Given the description of an element on the screen output the (x, y) to click on. 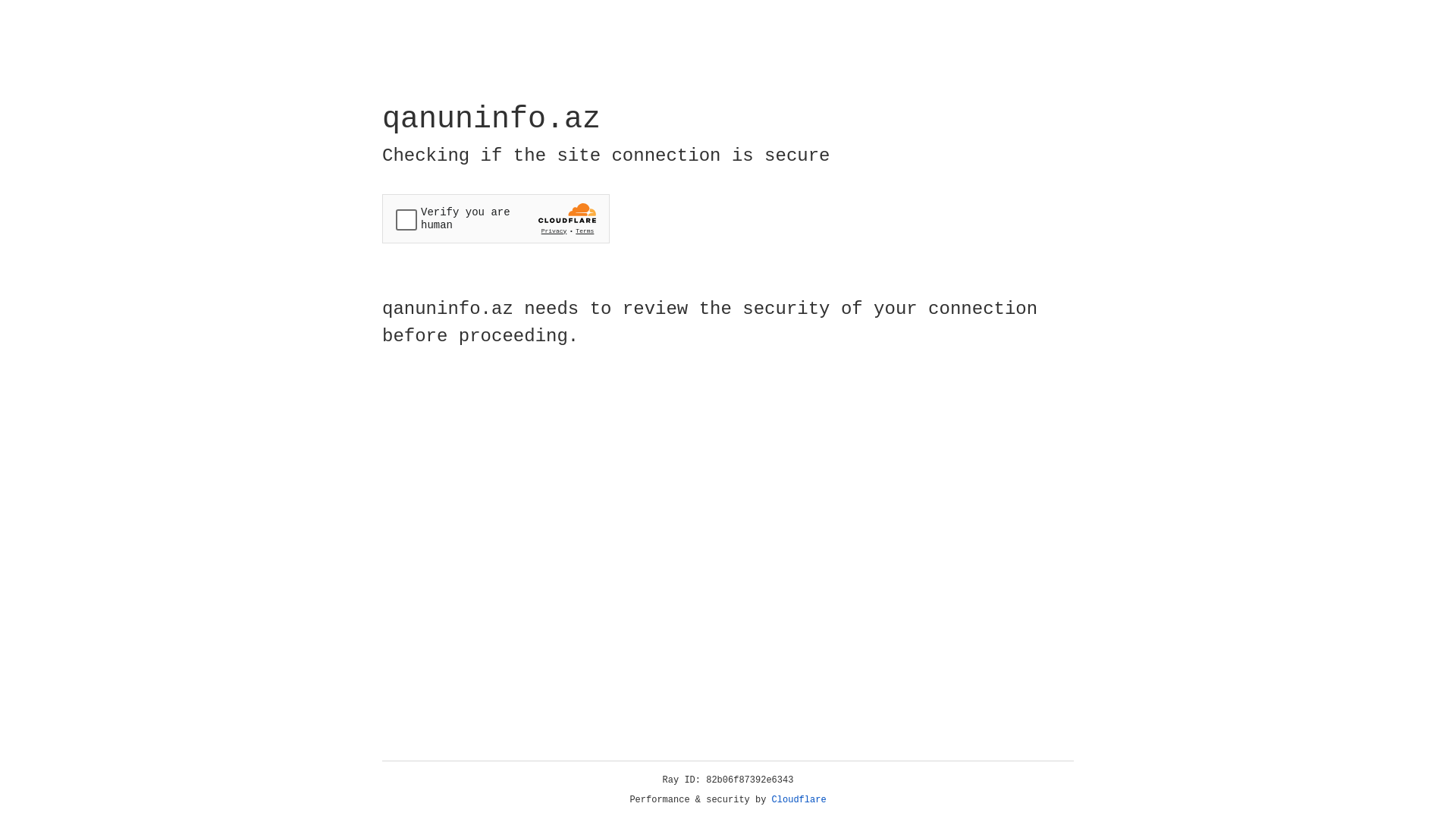
Widget containing a Cloudflare security challenge Element type: hover (495, 218)
Cloudflare Element type: text (798, 799)
